Given the description of an element on the screen output the (x, y) to click on. 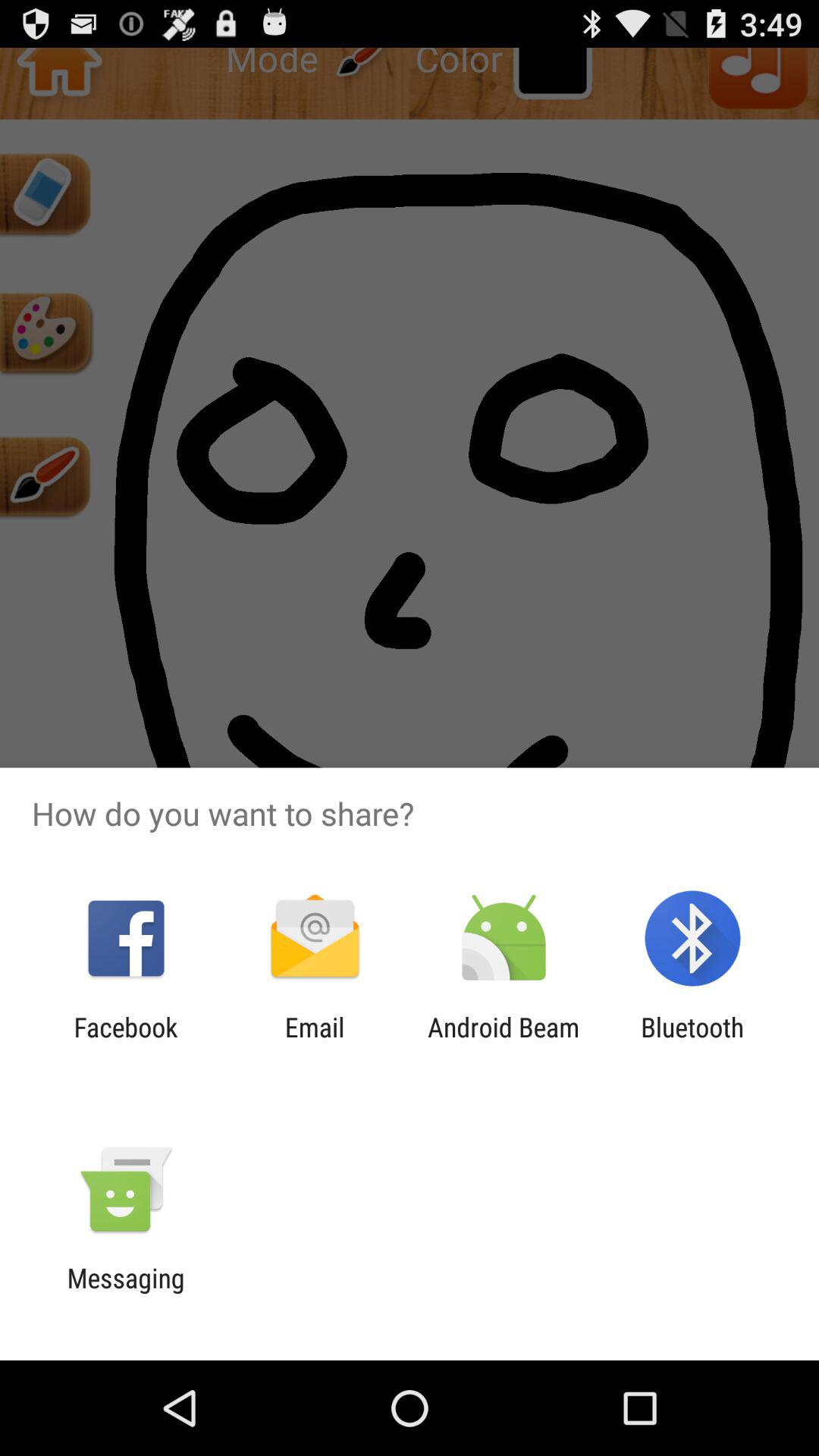
swipe to android beam icon (503, 1042)
